Given the description of an element on the screen output the (x, y) to click on. 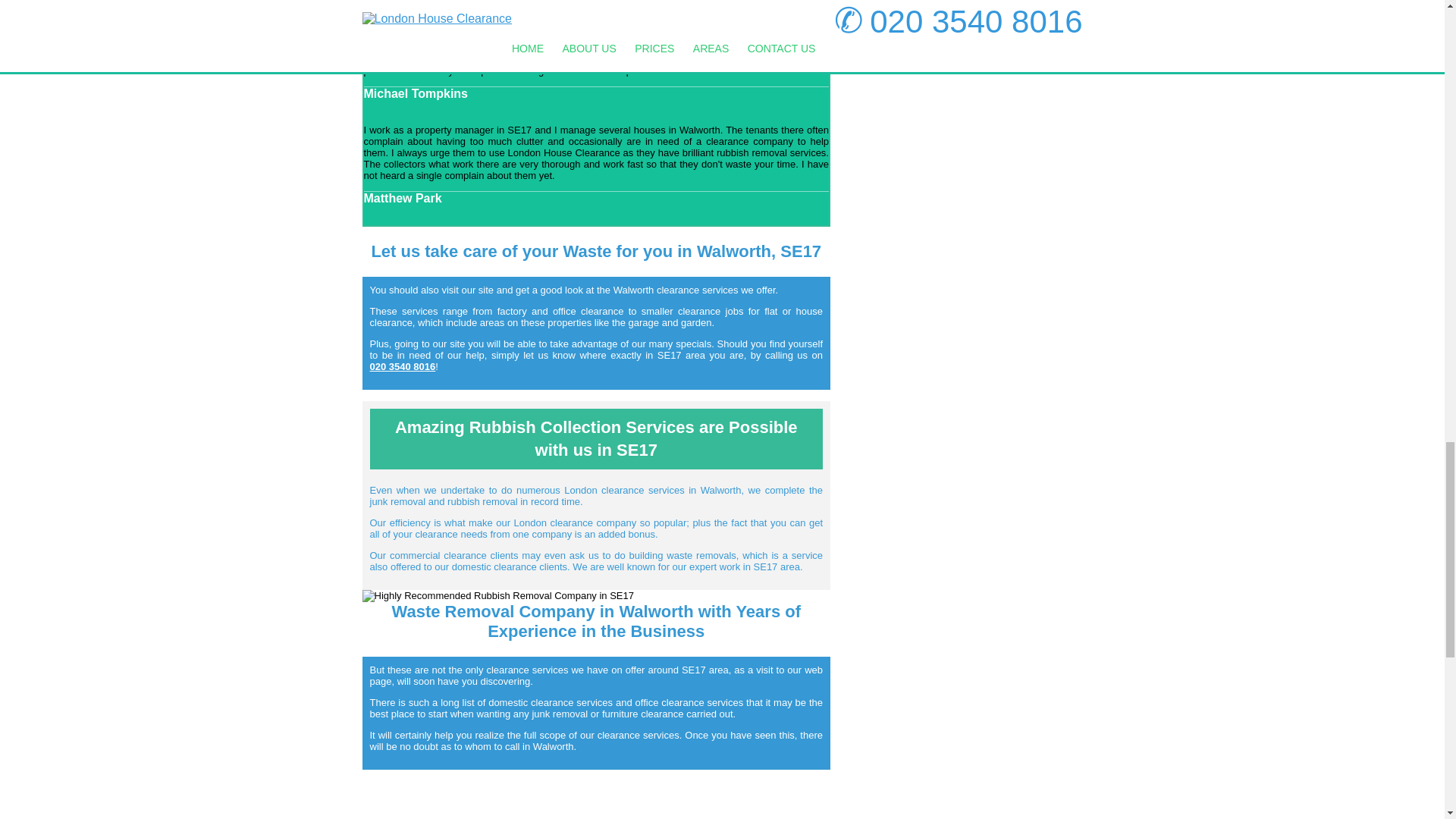
Call free 020 3540 8016 (402, 366)
020 3540 8016 (402, 366)
